Given the description of an element on the screen output the (x, y) to click on. 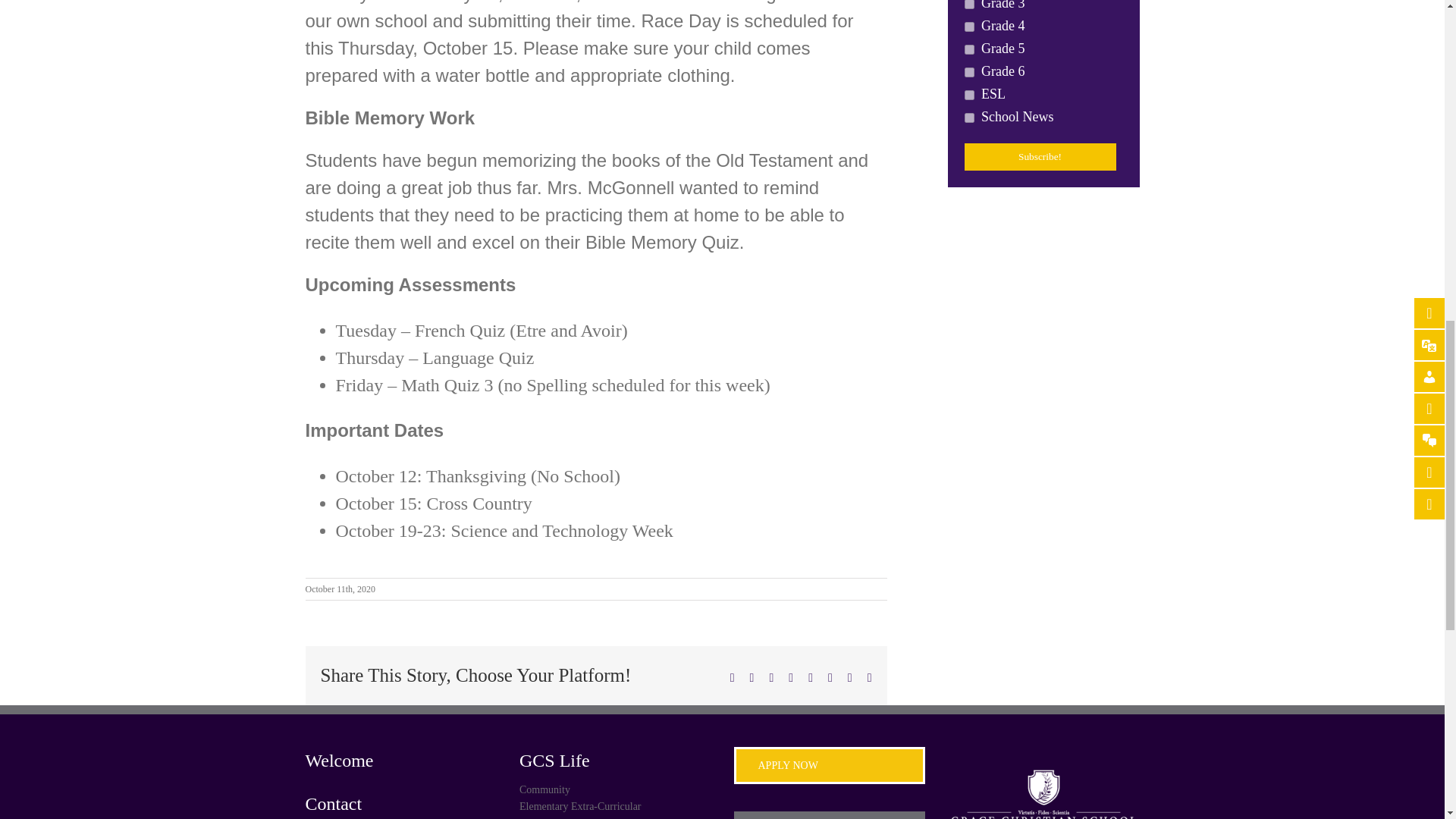
10 (968, 26)
4 (968, 4)
Subscribe! (1039, 156)
Welcome (400, 759)
8 (968, 117)
5 (968, 71)
6 (968, 94)
Subscribe! (1039, 156)
Community (615, 788)
11 (968, 49)
Contact (400, 803)
Elementary Extra-Curricular (615, 805)
GCS Life (615, 759)
